Given the description of an element on the screen output the (x, y) to click on. 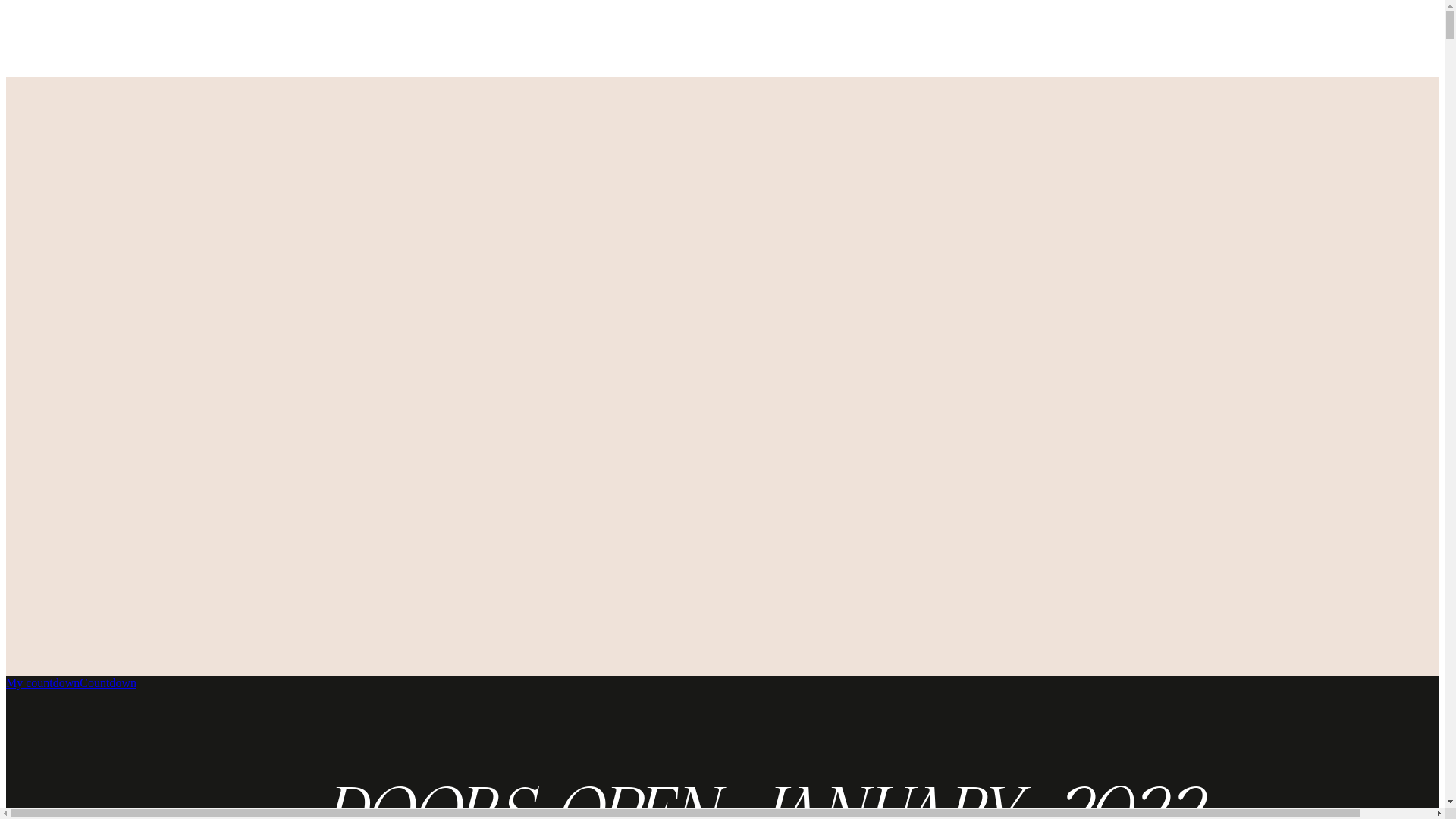
My countdown Element type: text (42, 682)
Countdown Element type: text (107, 682)
